Given the description of an element on the screen output the (x, y) to click on. 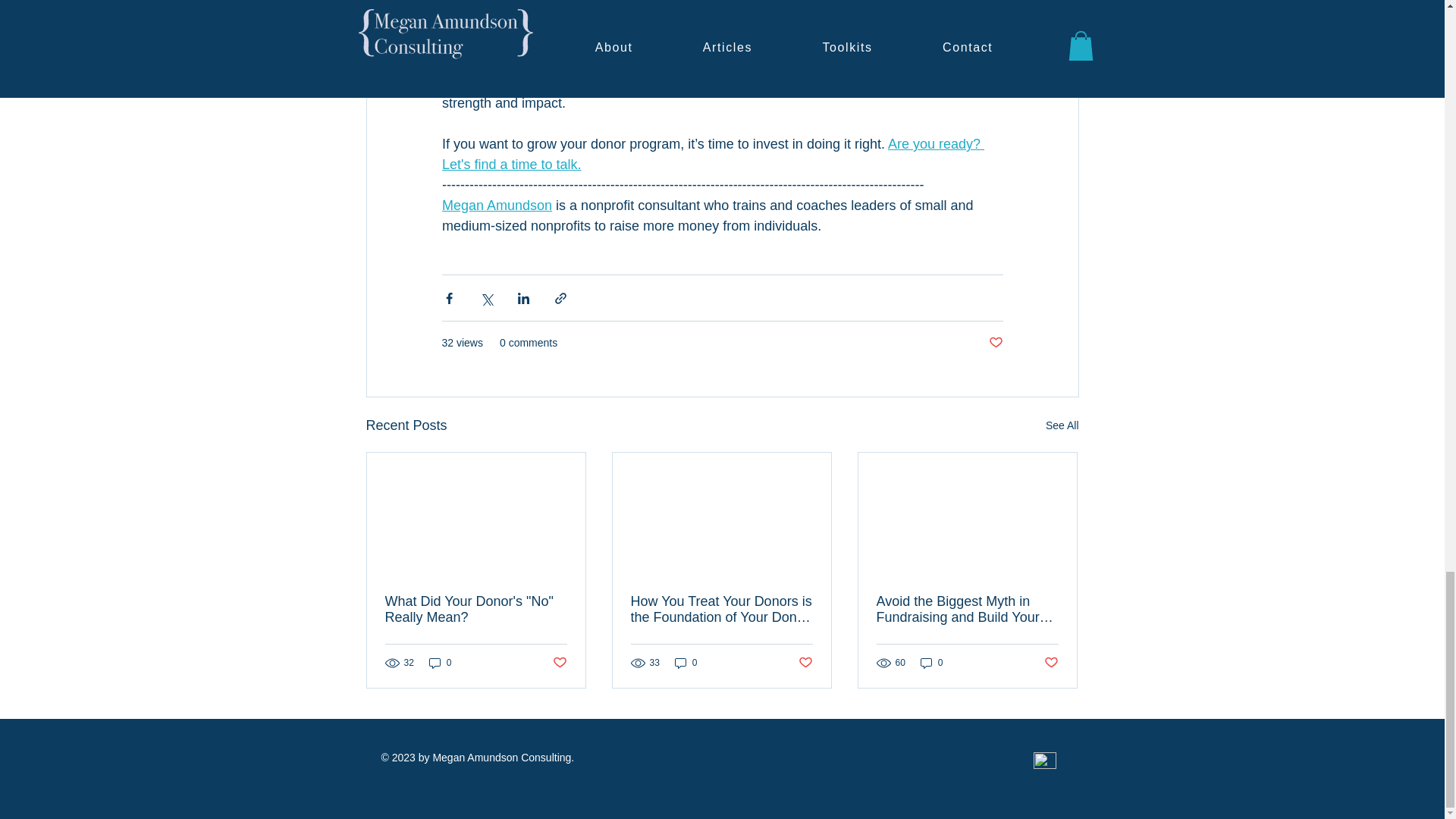
Megan Amundson (496, 205)
Post not marked as liked (804, 662)
Are you ready? Let's find a time to talk. (712, 153)
See All (1061, 425)
Post not marked as liked (1050, 662)
Post not marked as liked (558, 662)
0 (685, 663)
0 (931, 663)
0 (440, 663)
Post not marked as liked (995, 342)
What Did Your Donor's "No" Really Mean? (476, 609)
